Given the description of an element on the screen output the (x, y) to click on. 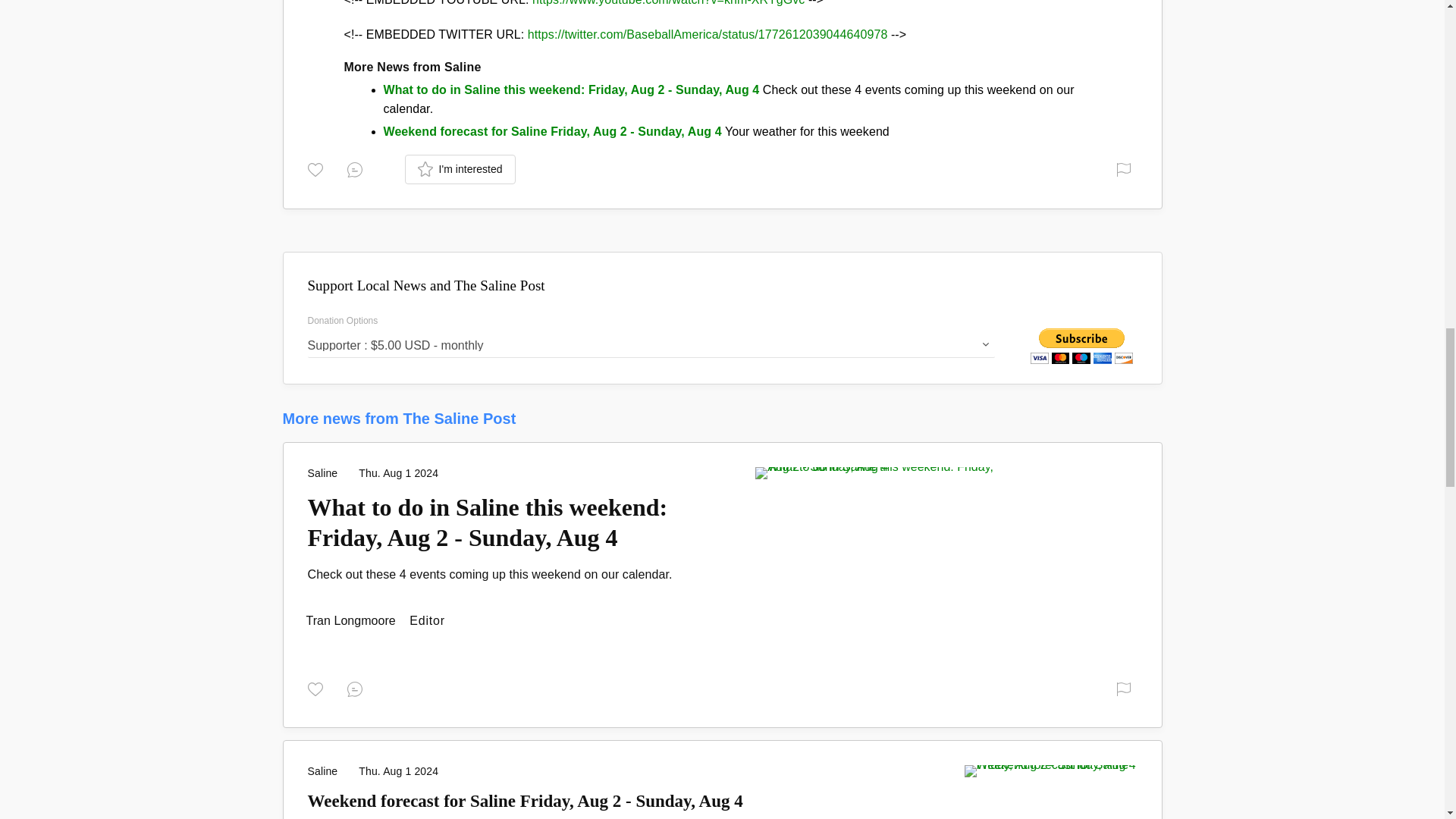
Thank (318, 688)
Thank (318, 168)
Reply (357, 688)
Editor (351, 620)
Reply (357, 168)
